Given the description of an element on the screen output the (x, y) to click on. 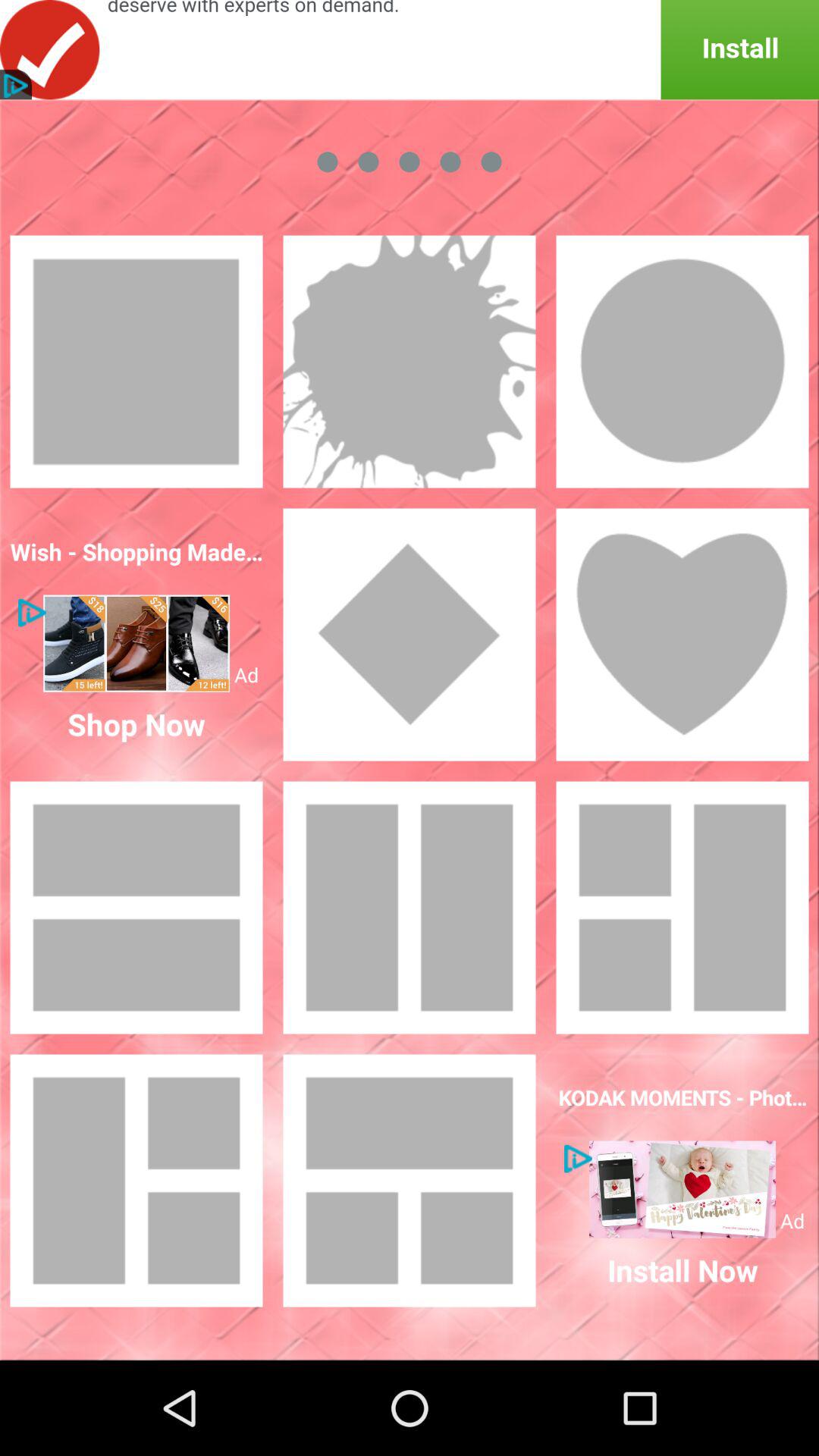
select this item (409, 1180)
